Given the description of an element on the screen output the (x, y) to click on. 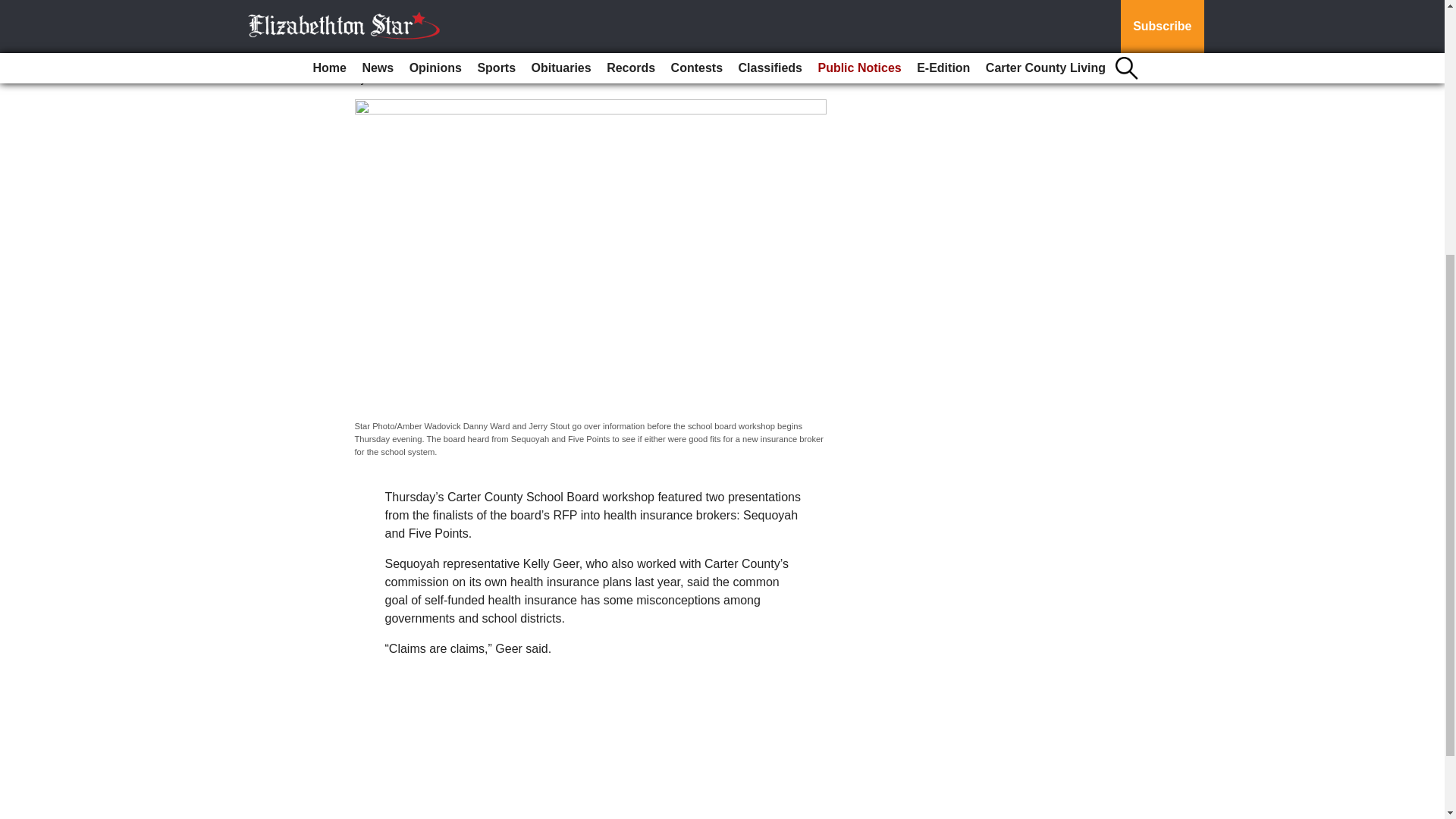
Amber Wadovick (400, 80)
